Given the description of an element on the screen output the (x, y) to click on. 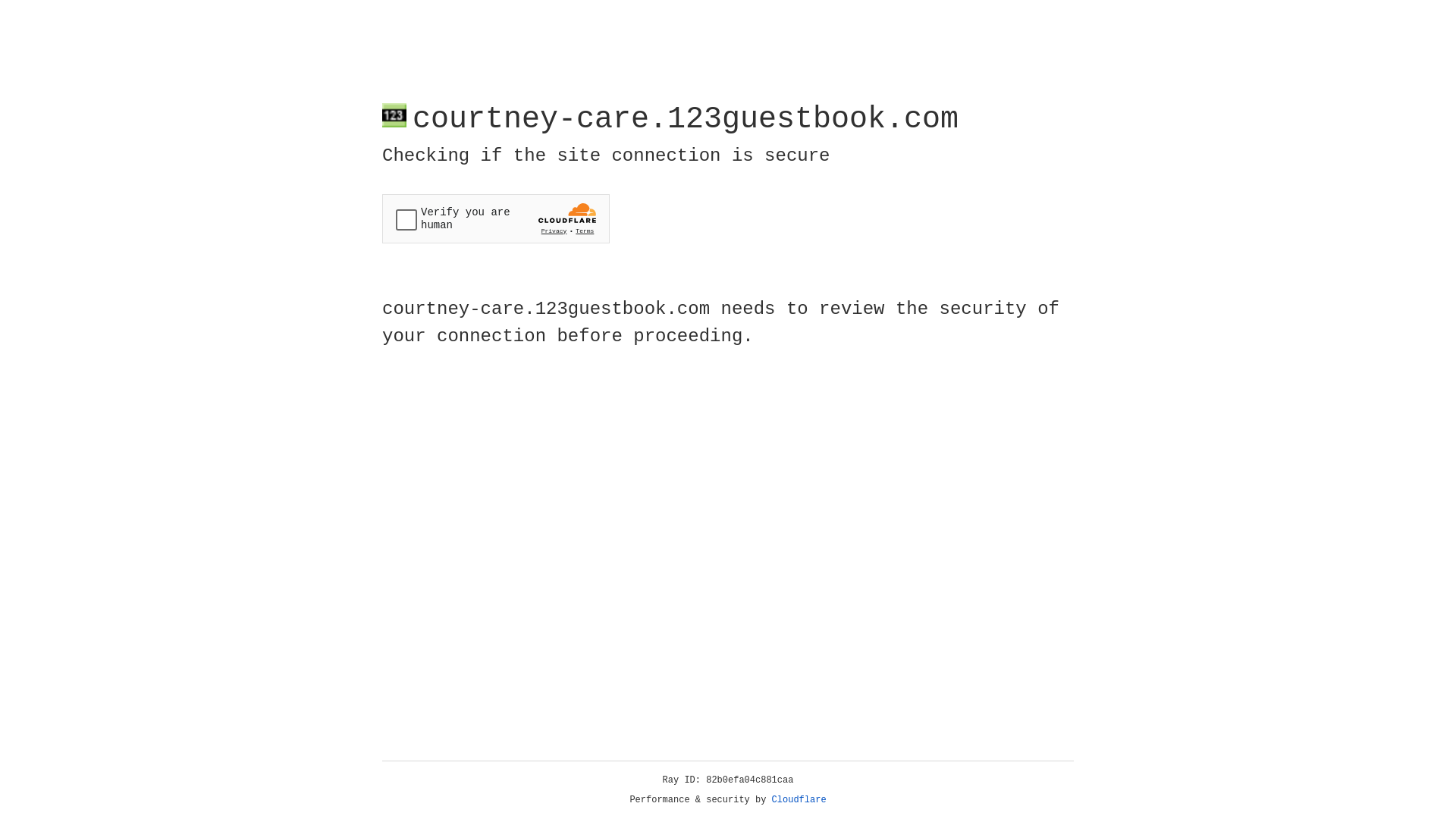
Widget containing a Cloudflare security challenge Element type: hover (495, 218)
Cloudflare Element type: text (798, 799)
